Given the description of an element on the screen output the (x, y) to click on. 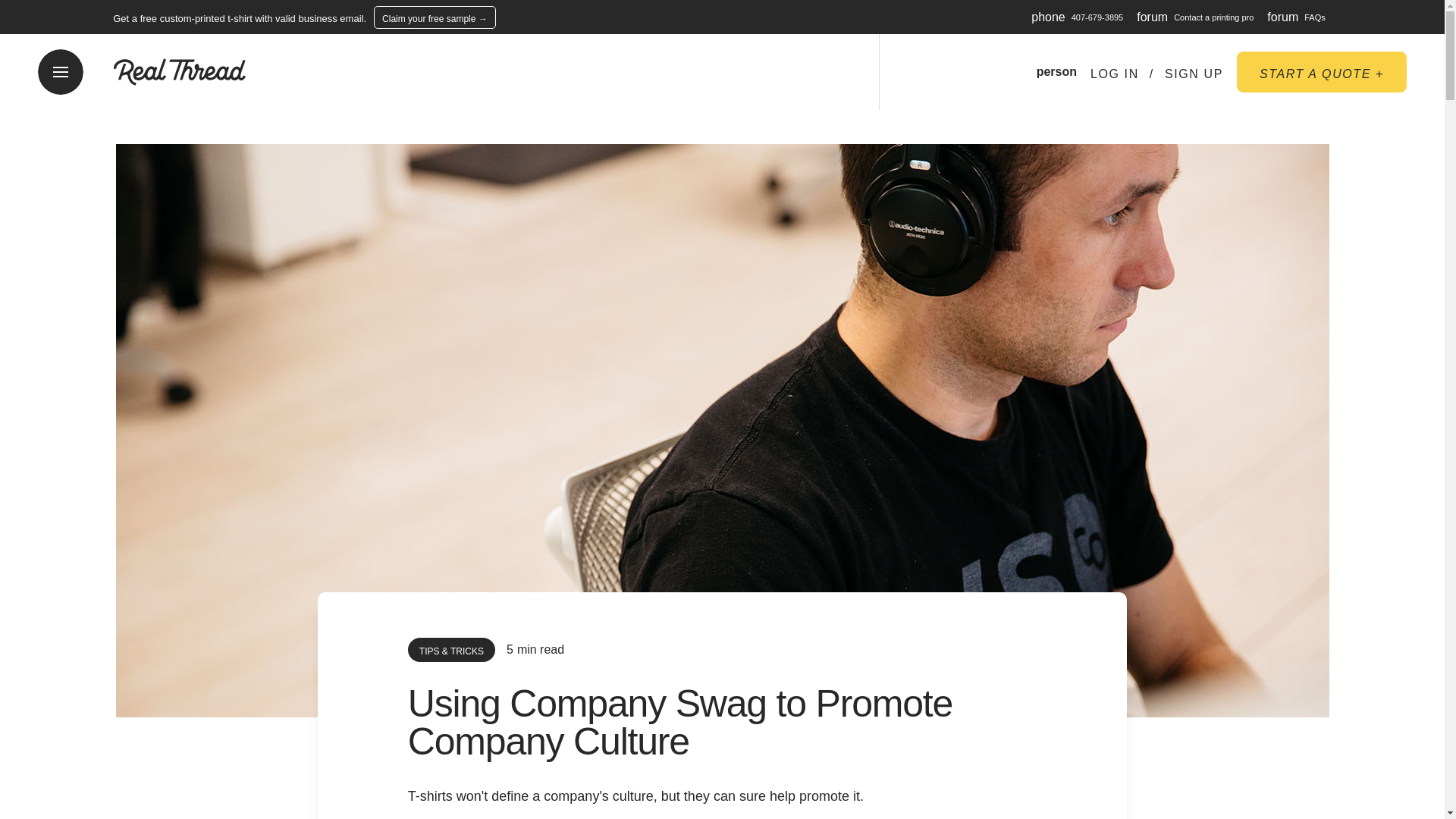
LOG IN (1114, 74)
Contact a printing pro (1213, 17)
SIGN UP (1193, 74)
Get a free custom-printed t-shirt with valid business email. (239, 18)
407-679-3895 (1097, 17)
FAQs (1314, 17)
